Given the description of an element on the screen output the (x, y) to click on. 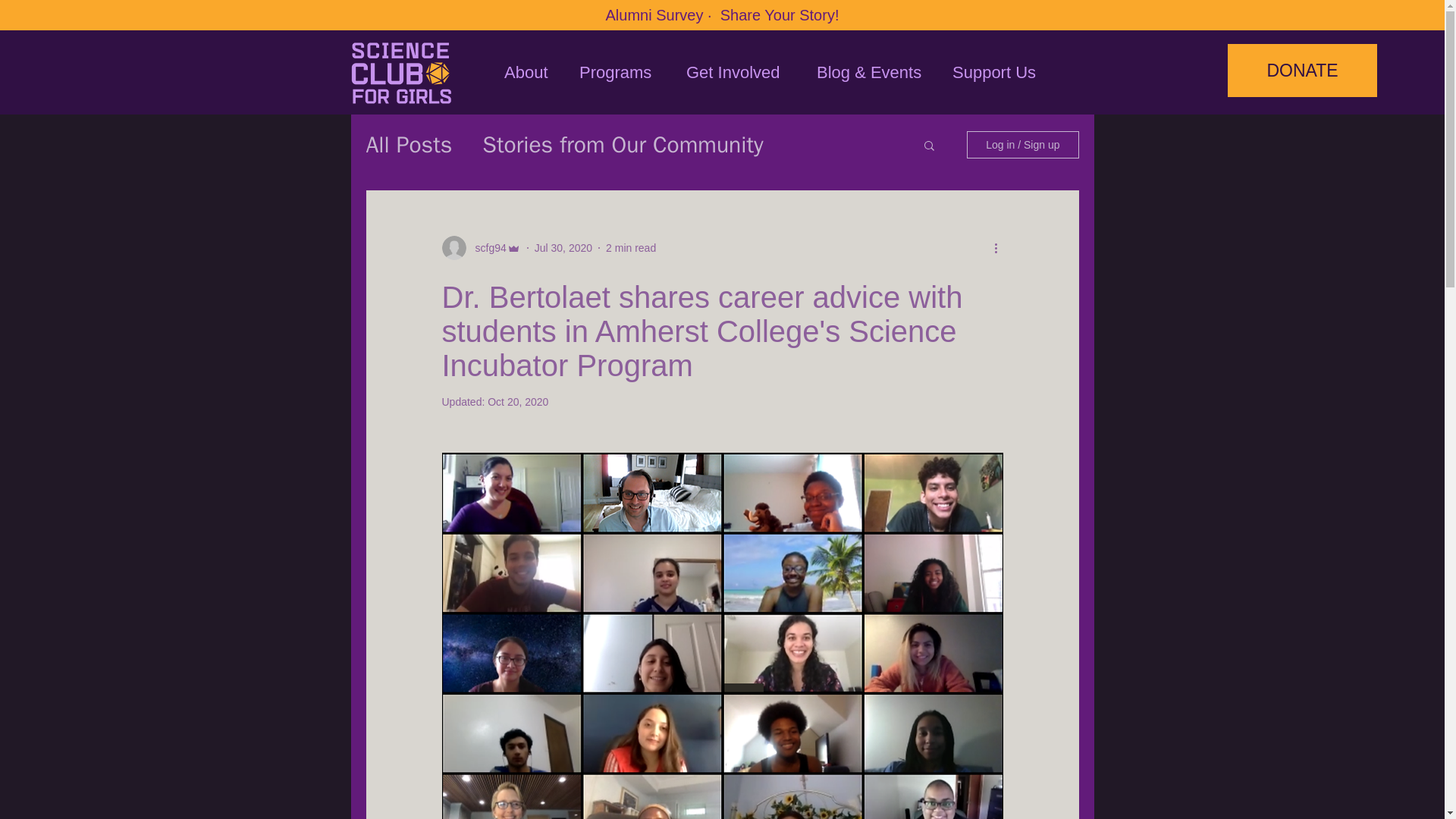
scfg94 (485, 247)
Stories from Our Community (621, 143)
Programs (620, 72)
All Posts (408, 143)
Get Involved (739, 72)
Jul 30, 2020 (563, 246)
DONATE (1302, 70)
2 min read (630, 246)
Oct 20, 2020 (517, 401)
About (529, 72)
